Given the description of an element on the screen output the (x, y) to click on. 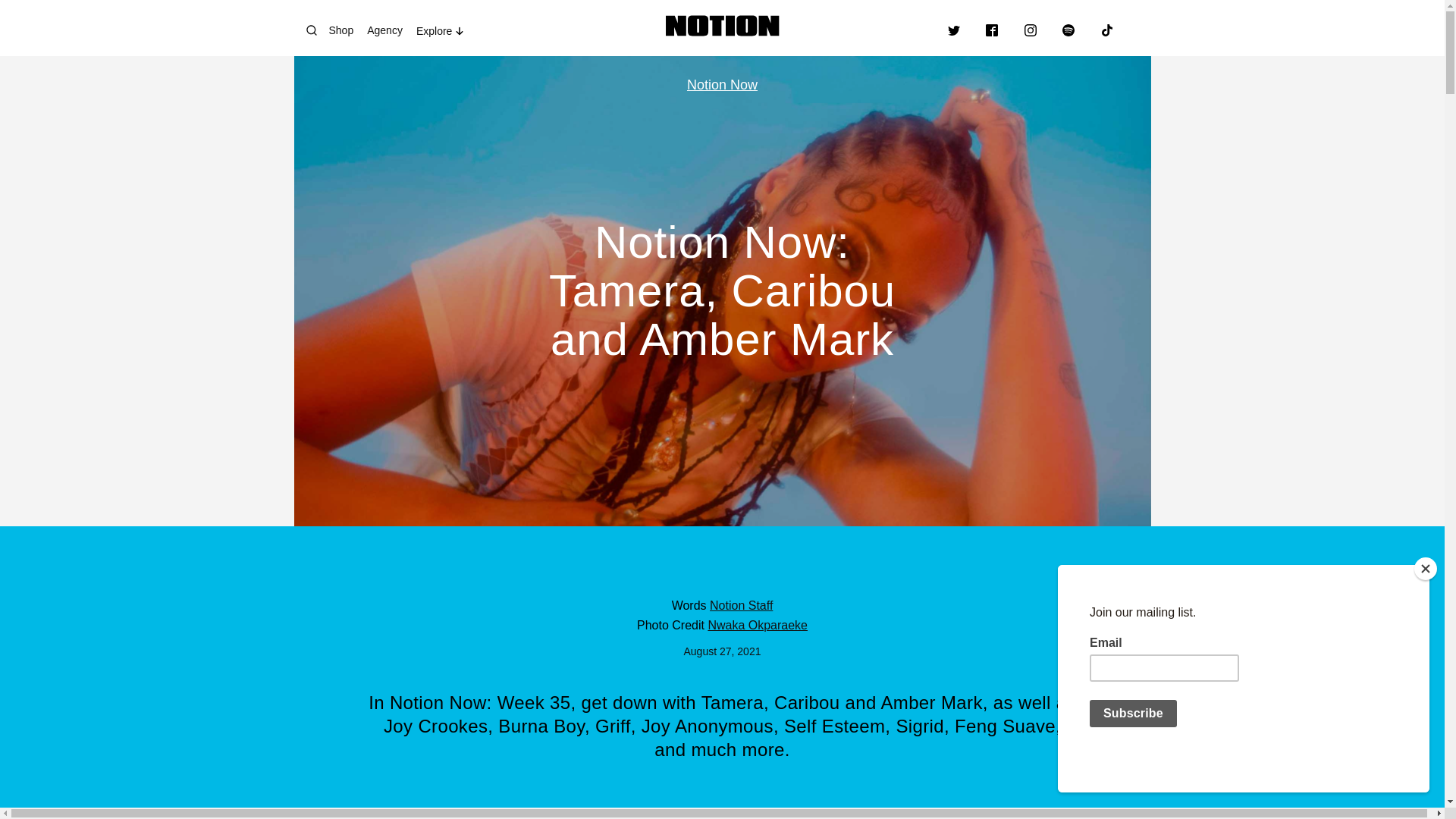
Notion Staff (741, 604)
August 27, 2021 (722, 651)
Shop (344, 30)
Agency (387, 30)
Notion Now (722, 84)
Nwaka Okparaeke (757, 625)
